Given the description of an element on the screen output the (x, y) to click on. 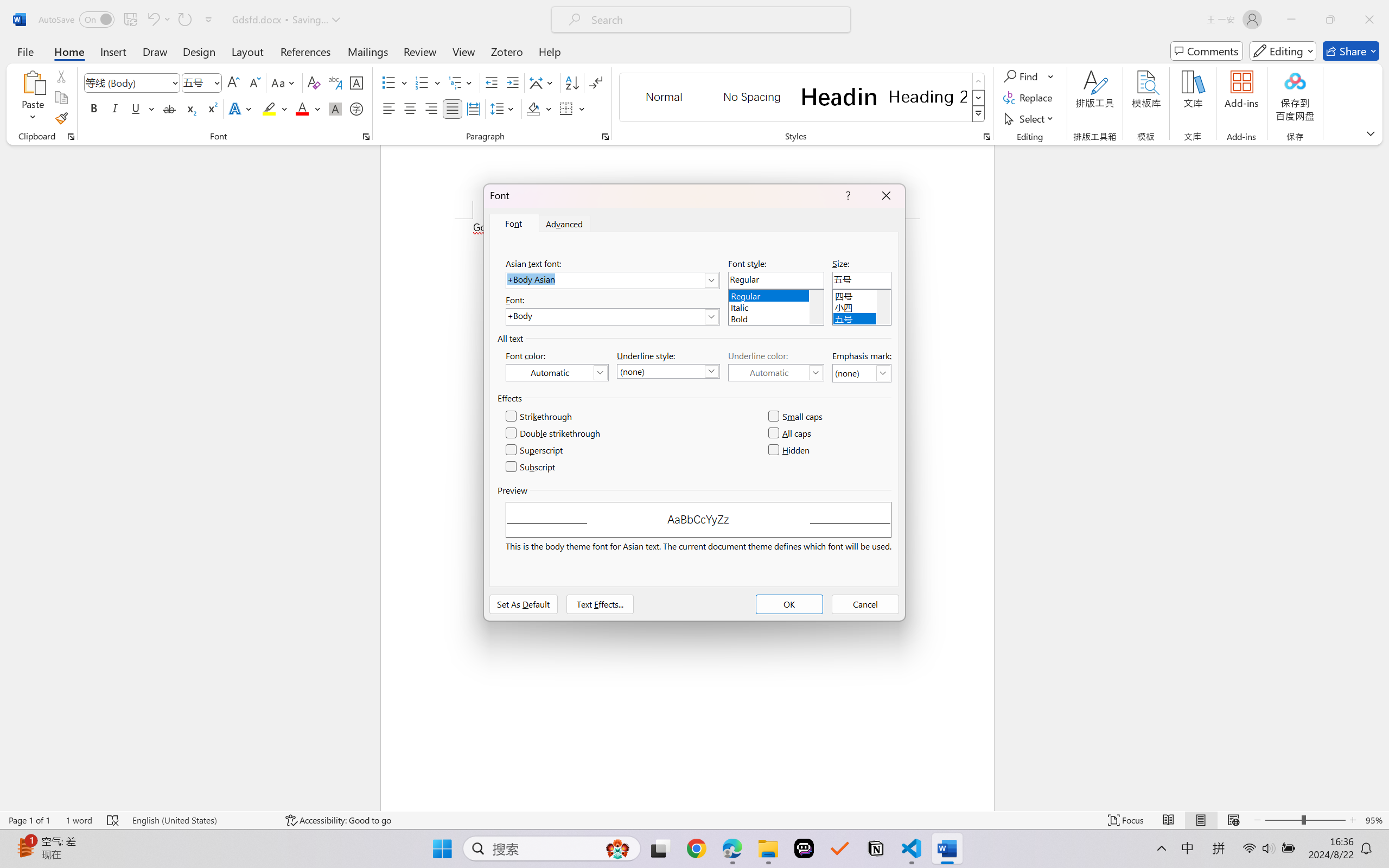
Font Color (308, 108)
Emphasis mark: (861, 372)
Shrink Font (253, 82)
Center (409, 108)
Align Right (431, 108)
Format Painter (60, 118)
Cancel (865, 603)
Text Effects... (599, 603)
Grow Font (233, 82)
